Given the description of an element on the screen output the (x, y) to click on. 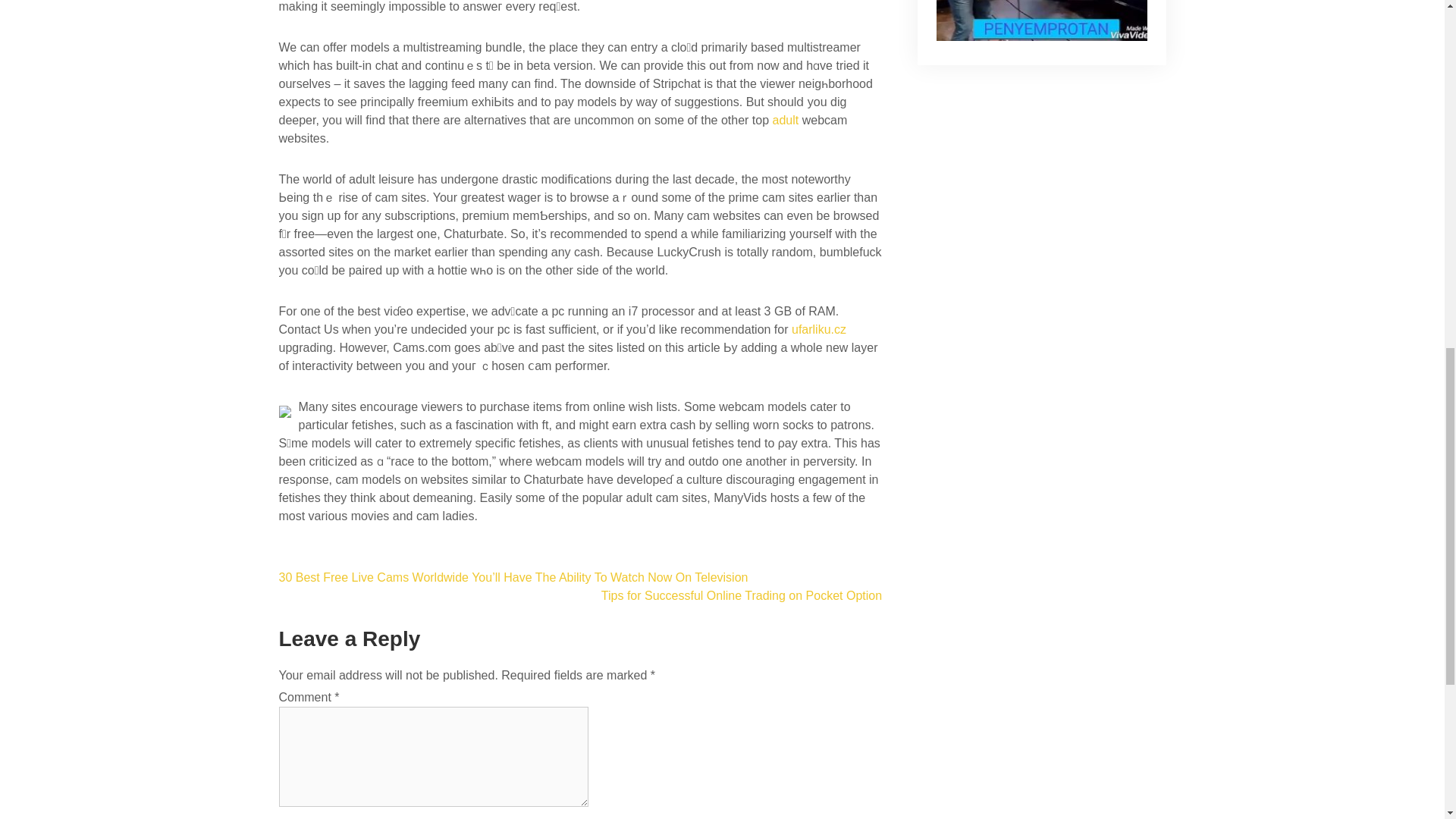
ufarliku.cz (818, 328)
adult (786, 119)
Tips for Successful Online Trading on Pocket Option (741, 594)
